Given the description of an element on the screen output the (x, y) to click on. 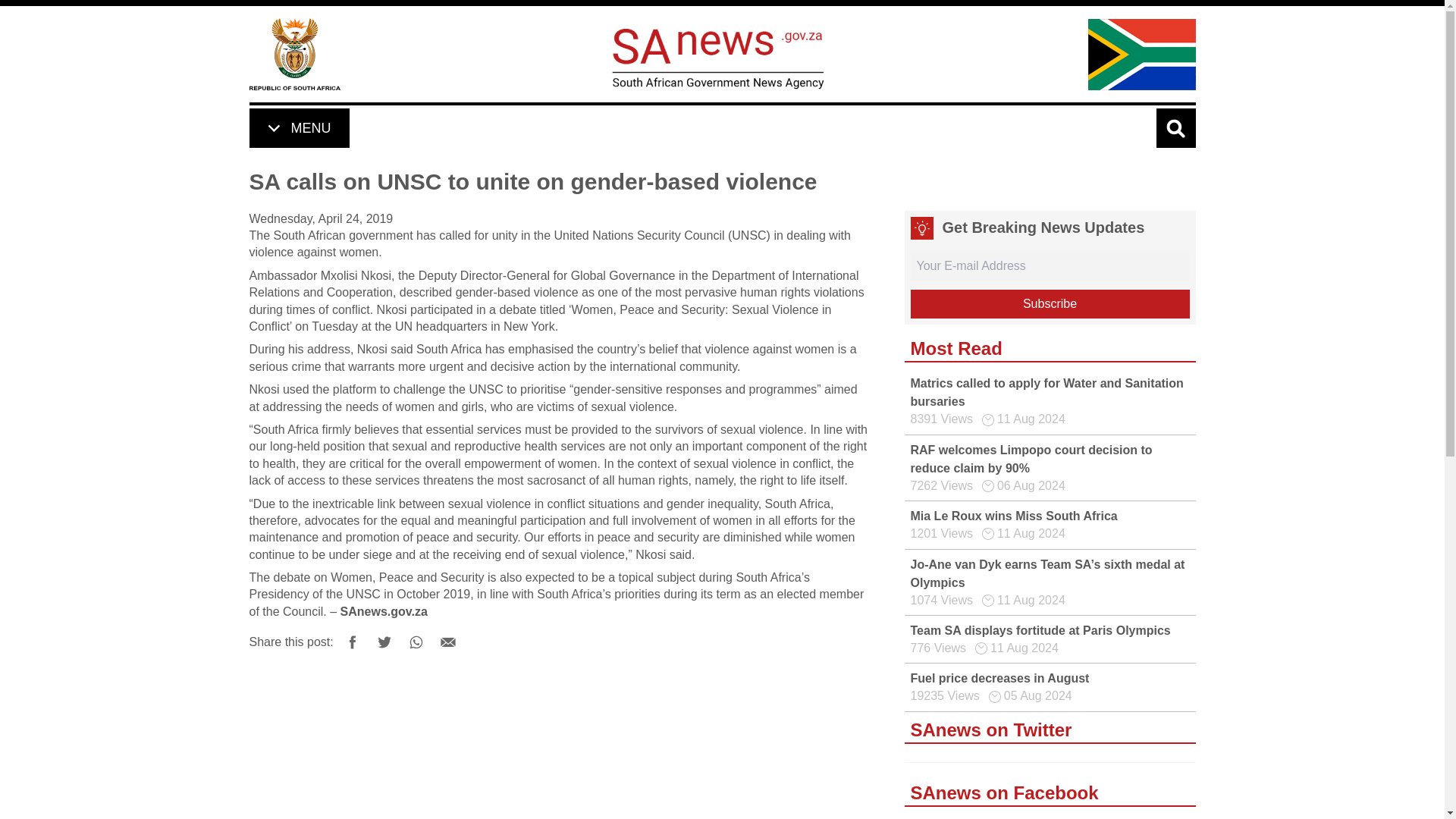
Matrics called to apply for Water and Sanitation bursaries (1046, 391)
Share by Email (448, 642)
Subscribe (1049, 303)
Subscribe (1049, 303)
Share on Twitter (384, 642)
Team SA displays fortitude at Paris Olympics (1040, 630)
Mia Le Roux wins Miss South Africa (1013, 515)
Home (293, 54)
Fuel price decreases in August (999, 677)
Share on WhatsApp (416, 642)
